Given the description of an element on the screen output the (x, y) to click on. 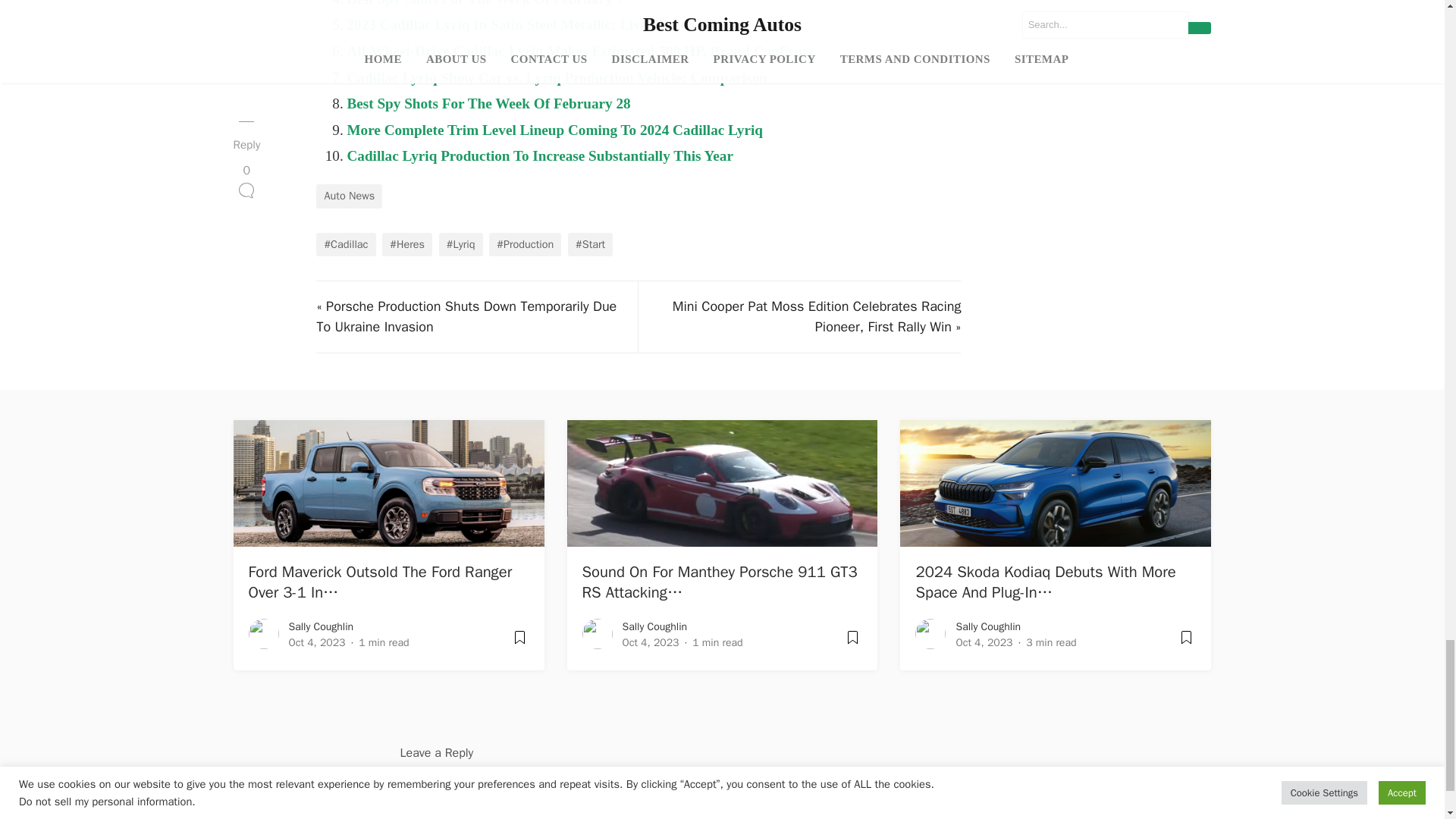
Best Spy Shots For The Week Of February 28 (488, 103)
Auto News (348, 196)
Best Spy Shots For The Week Of February 7 (484, 3)
